Given the description of an element on the screen output the (x, y) to click on. 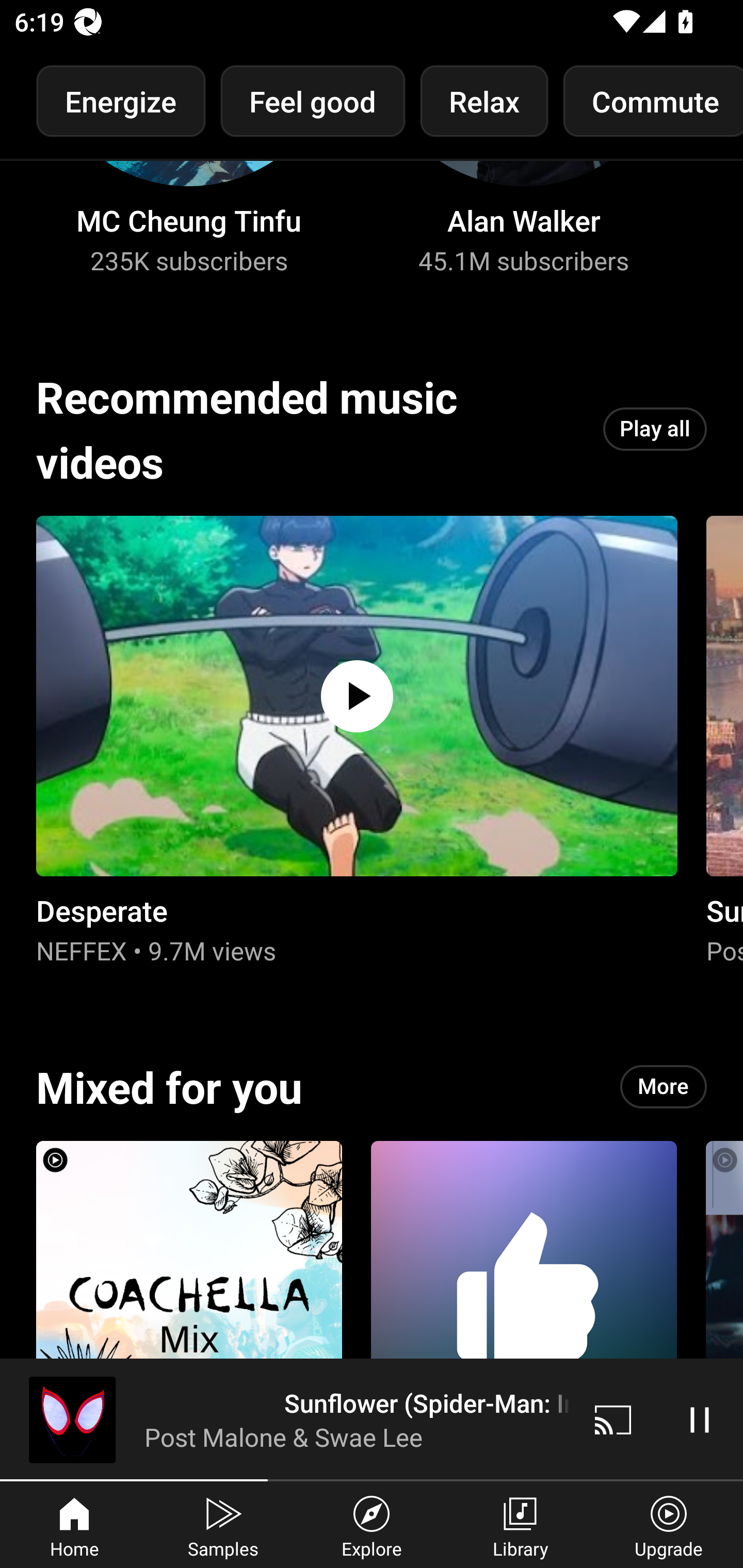
Cast. Disconnected (612, 1419)
Pause video (699, 1419)
Home (74, 1524)
Samples (222, 1524)
Explore (371, 1524)
Library (519, 1524)
Upgrade (668, 1524)
